Given the description of an element on the screen output the (x, y) to click on. 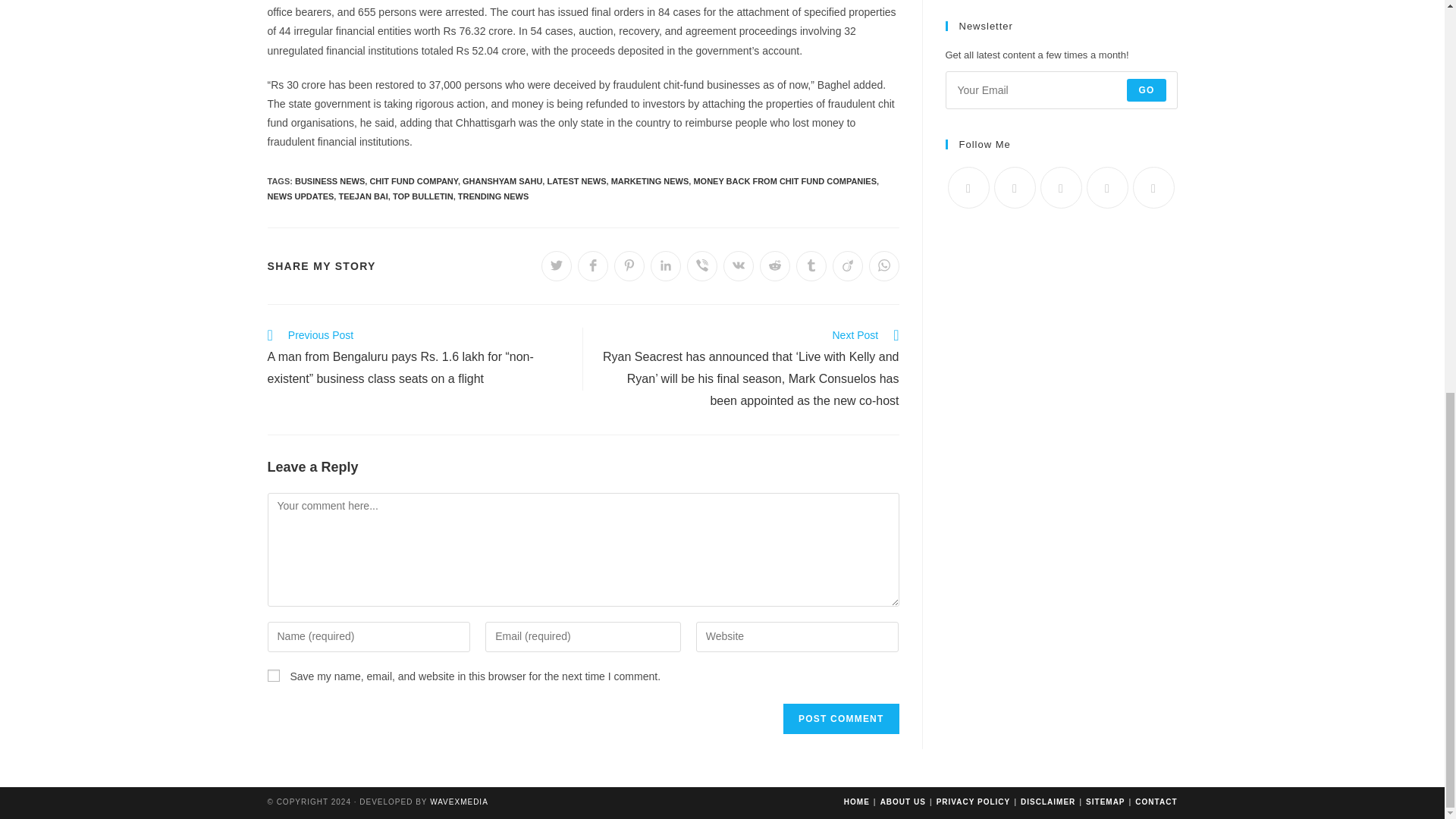
yes (272, 675)
Post Comment (840, 718)
